Given the description of an element on the screen output the (x, y) to click on. 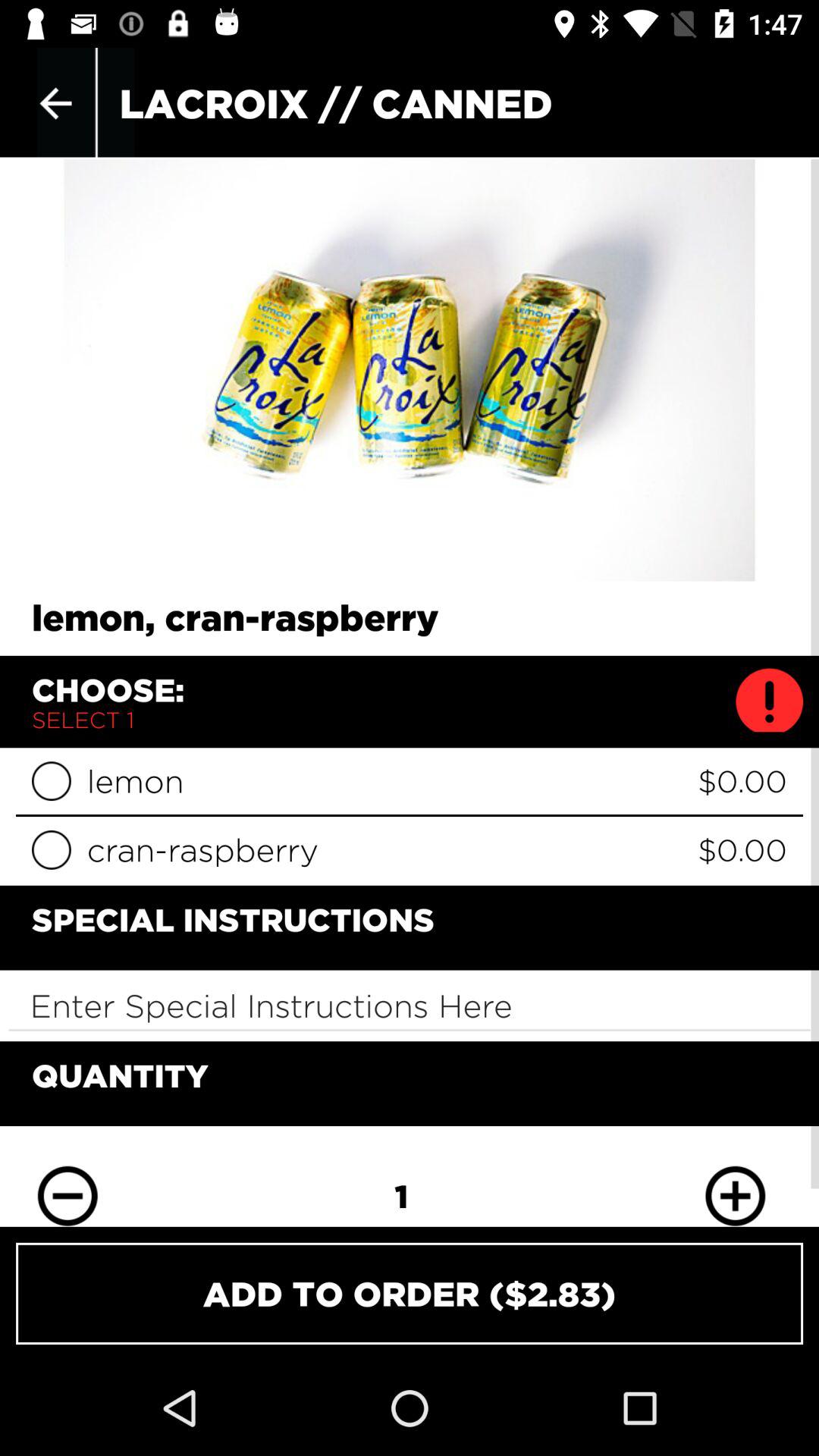
decrease quantity (67, 1185)
